Given the description of an element on the screen output the (x, y) to click on. 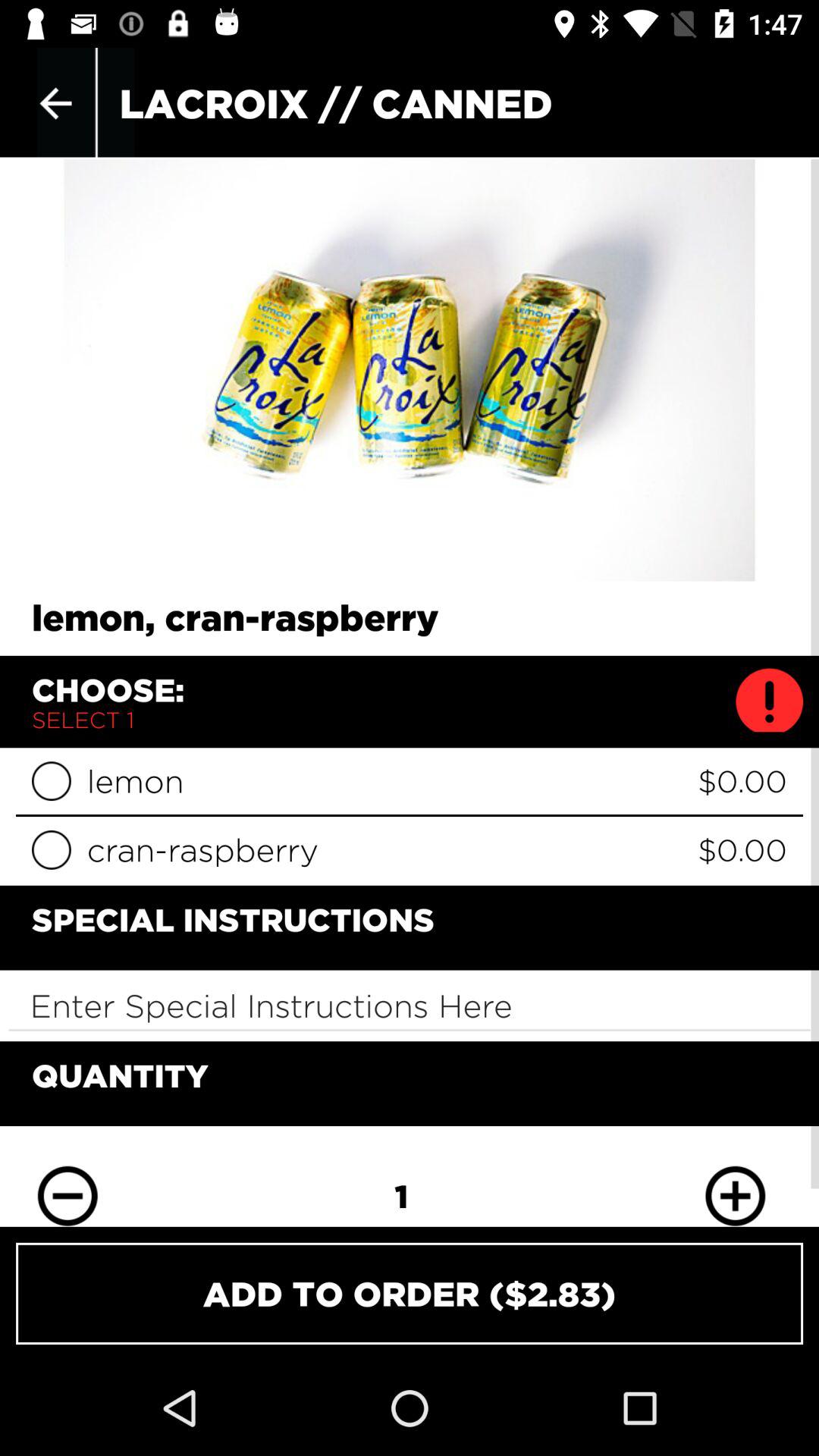
decrease quantity (67, 1185)
